Given the description of an element on the screen output the (x, y) to click on. 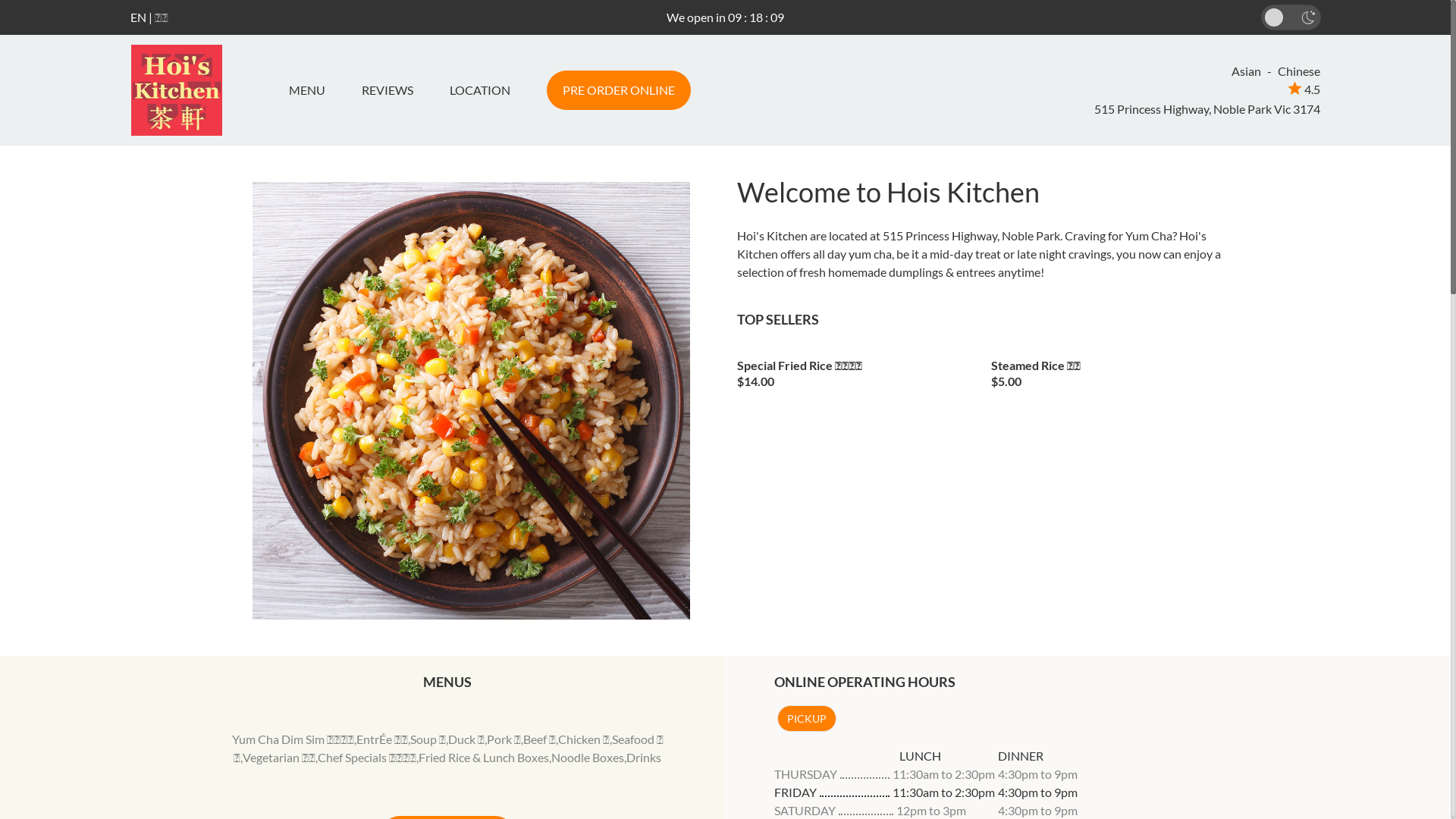
MENU Element type: text (312, 90)
REVIEWS Element type: text (386, 90)
Fried Rice & Lunch Boxes Element type: text (483, 756)
PICKUP Element type: text (805, 718)
LOCATION Element type: text (478, 90)
Drinks Element type: text (643, 756)
Noodle Boxes Element type: text (587, 756)
PRE ORDER ONLINE Element type: text (618, 89)
EN Element type: text (138, 16)
4.5 Element type: text (1303, 88)
